Given the description of an element on the screen output the (x, y) to click on. 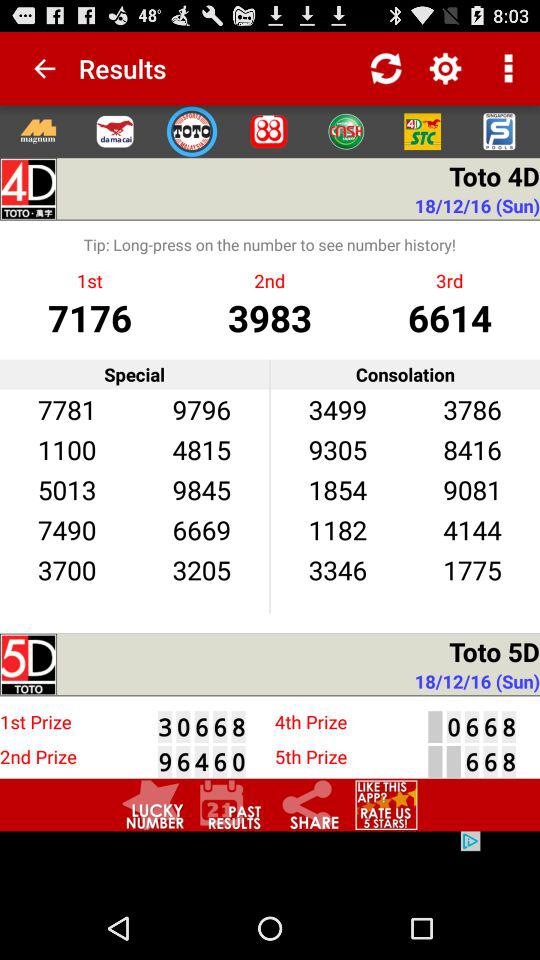
choose number (153, 804)
